Given the description of an element on the screen output the (x, y) to click on. 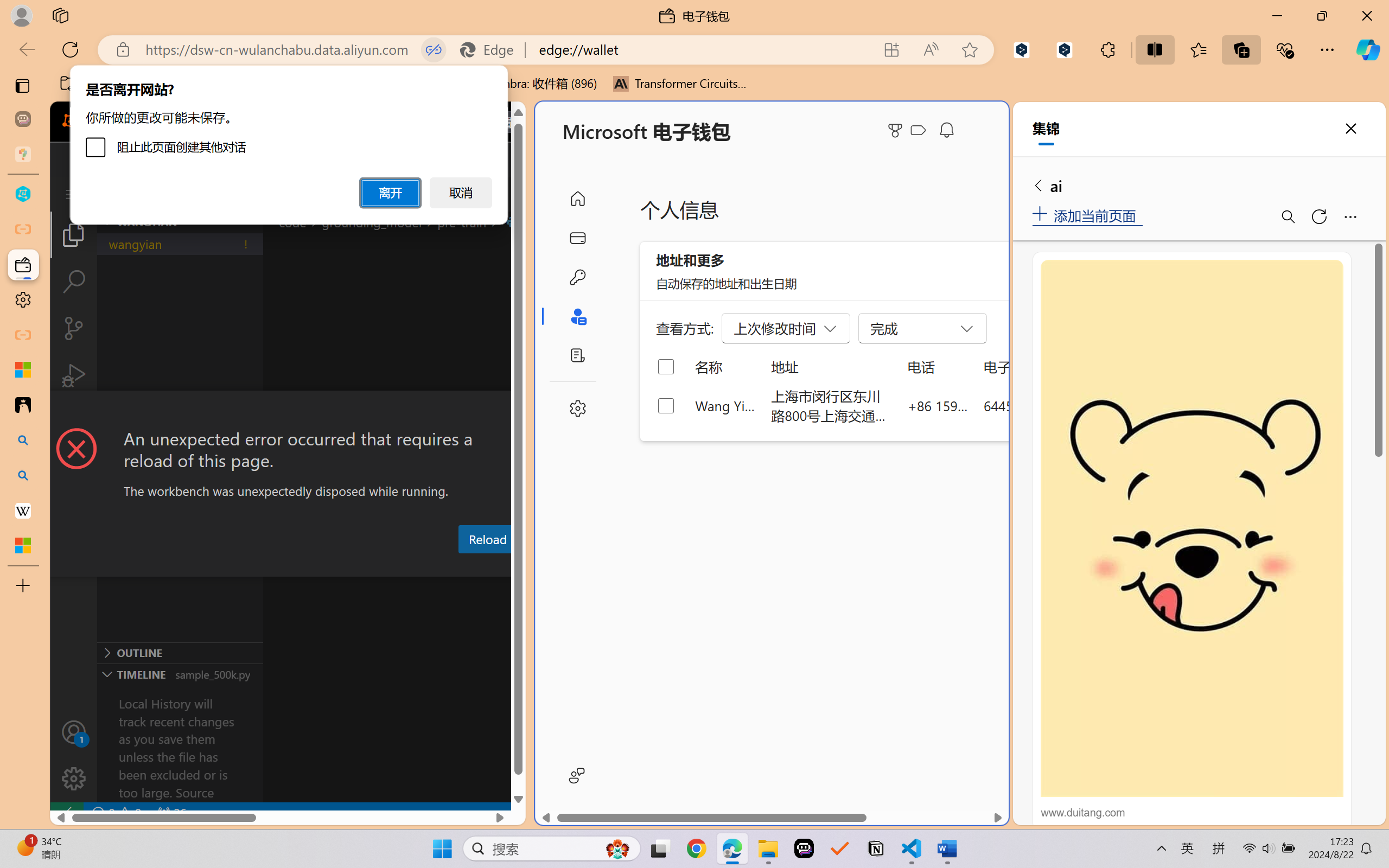
Close Dialog (520, 410)
+86 159 0032 4640 (938, 405)
Transformer Circuits Thread (680, 83)
